Given the description of an element on the screen output the (x, y) to click on. 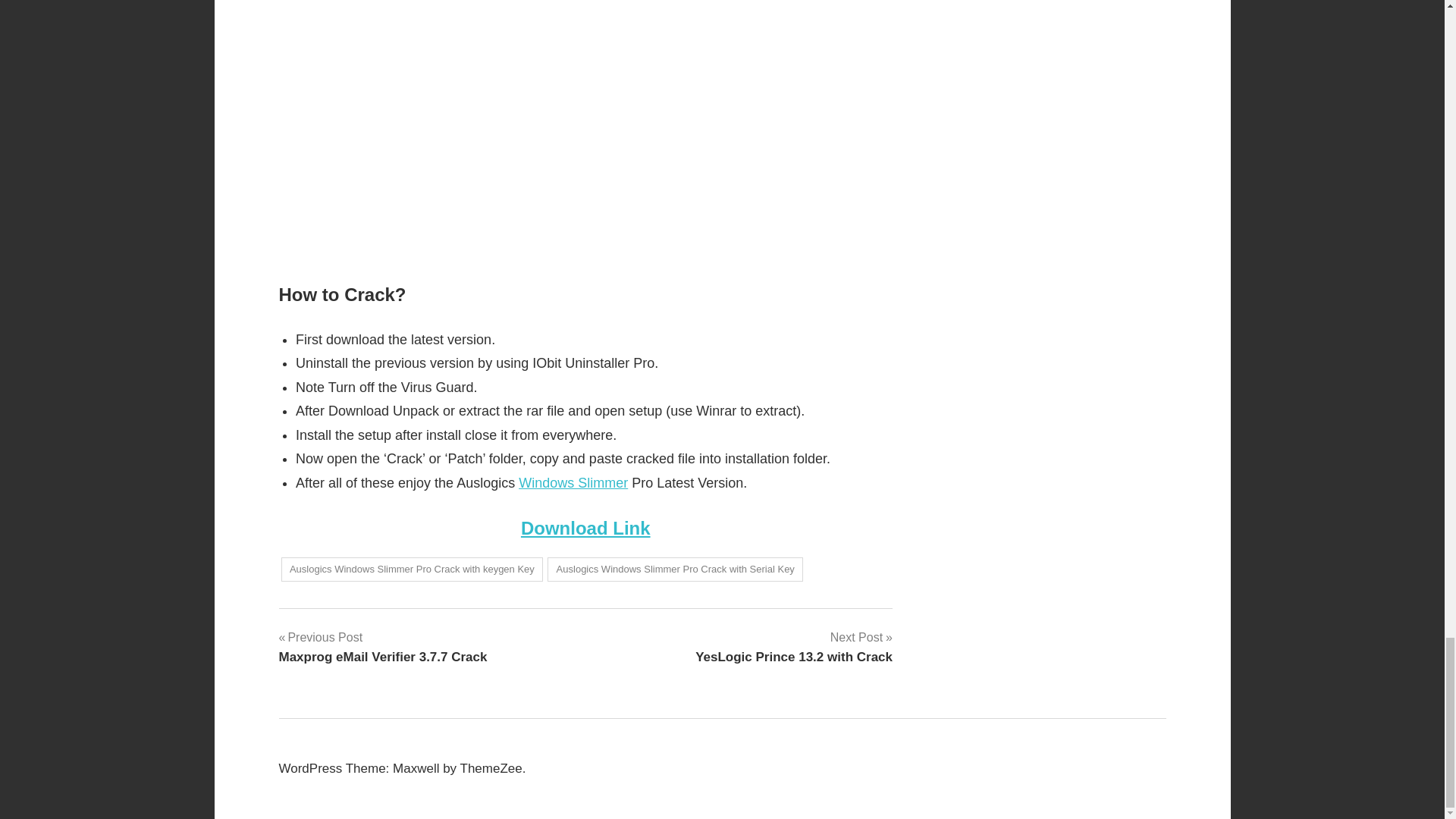
Download Link (585, 527)
Auslogics Windows Slimmer Pro Crack with Serial Key (675, 569)
Windows Slimmer (793, 646)
Auslogics Windows Slimmer 1.0.6.0 (572, 482)
